Given the description of an element on the screen output the (x, y) to click on. 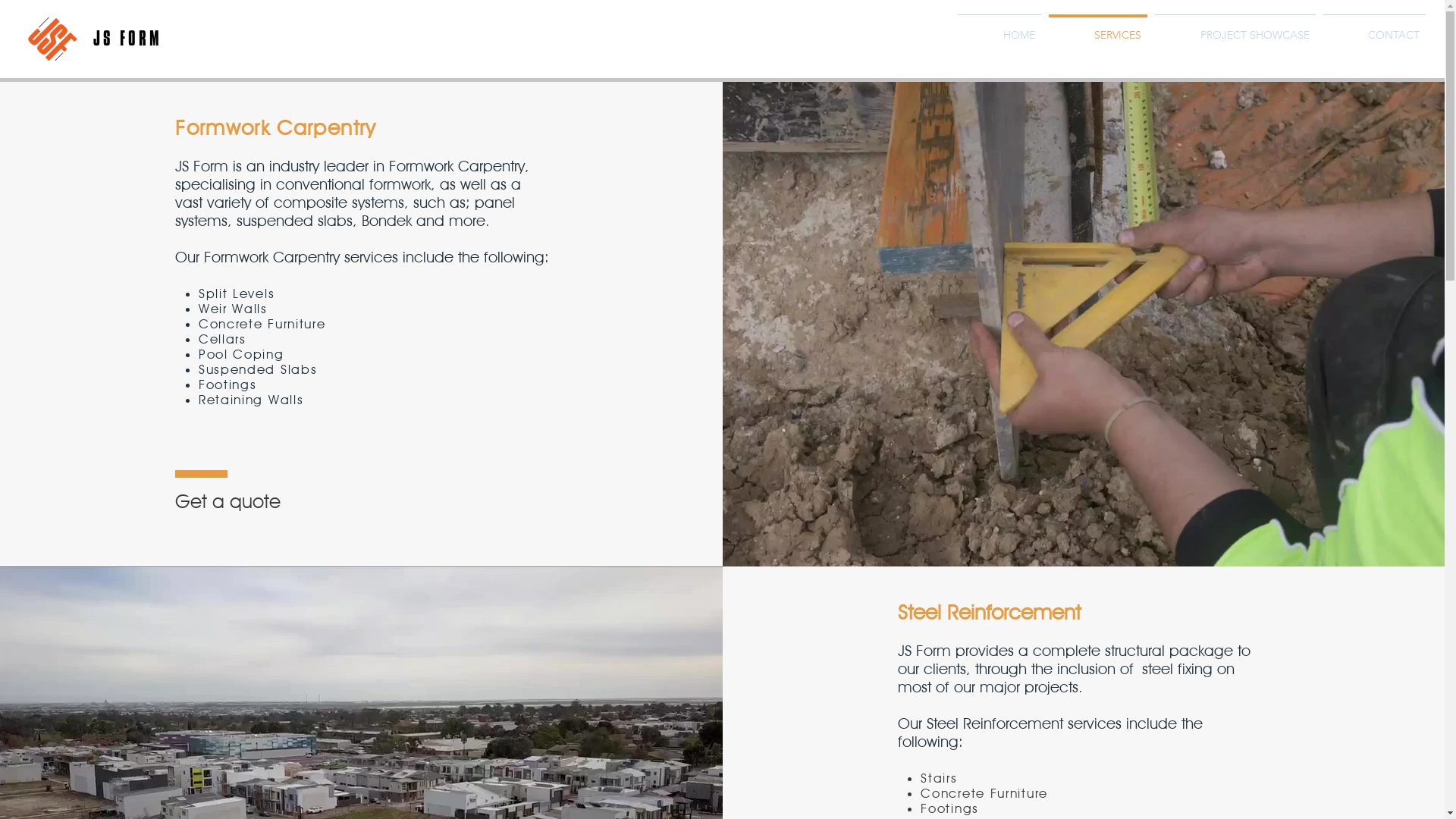
HOME Element type: text (998, 28)
CONTACT Element type: text (1374, 28)
JS FORM Element type: text (127, 38)
SERVICES Element type: text (1097, 28)
PROJECT SHOWCASE Element type: text (1235, 28)
